Given the description of an element on the screen output the (x, y) to click on. 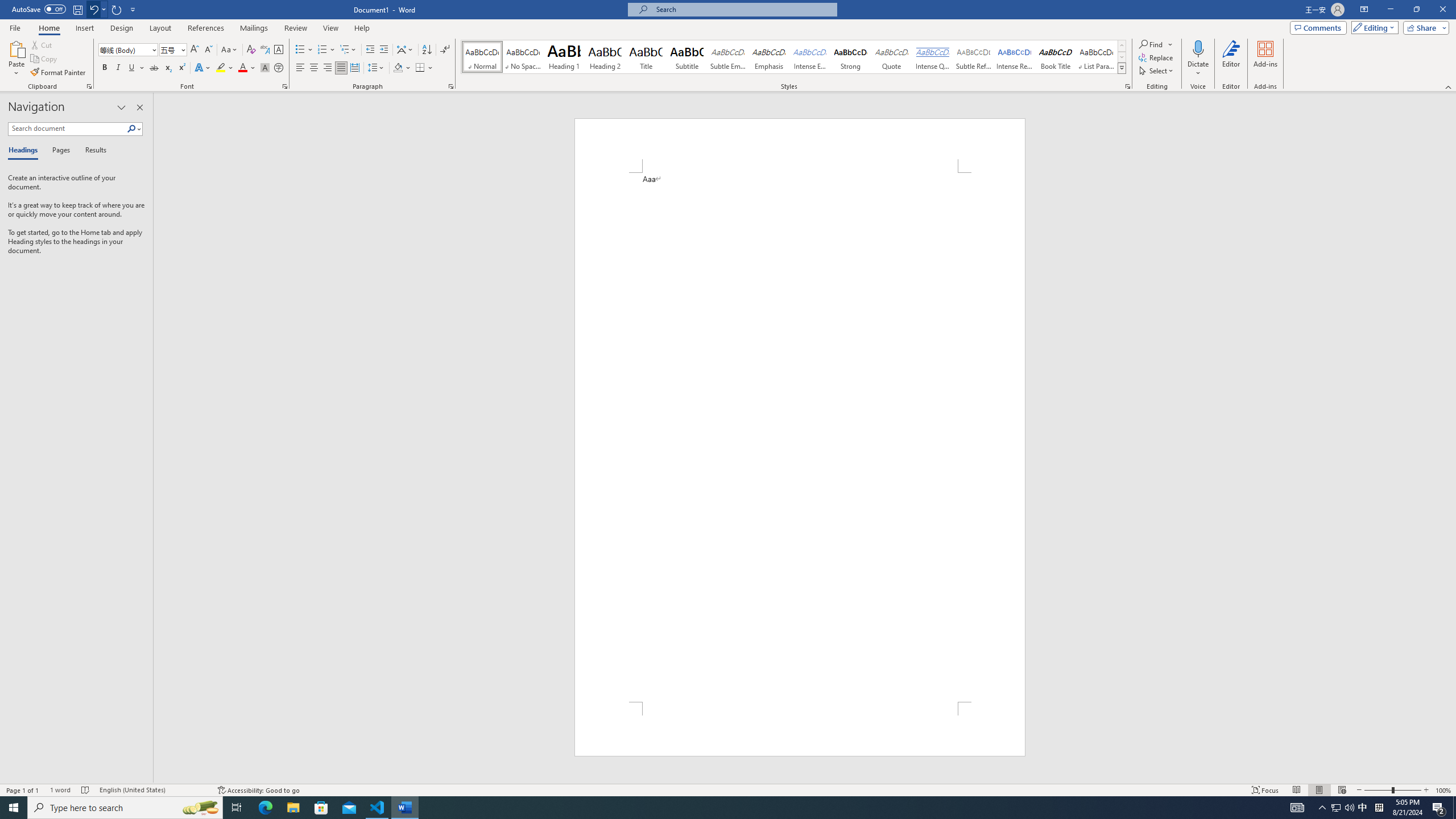
Book Title (1055, 56)
